Given the description of an element on the screen output the (x, y) to click on. 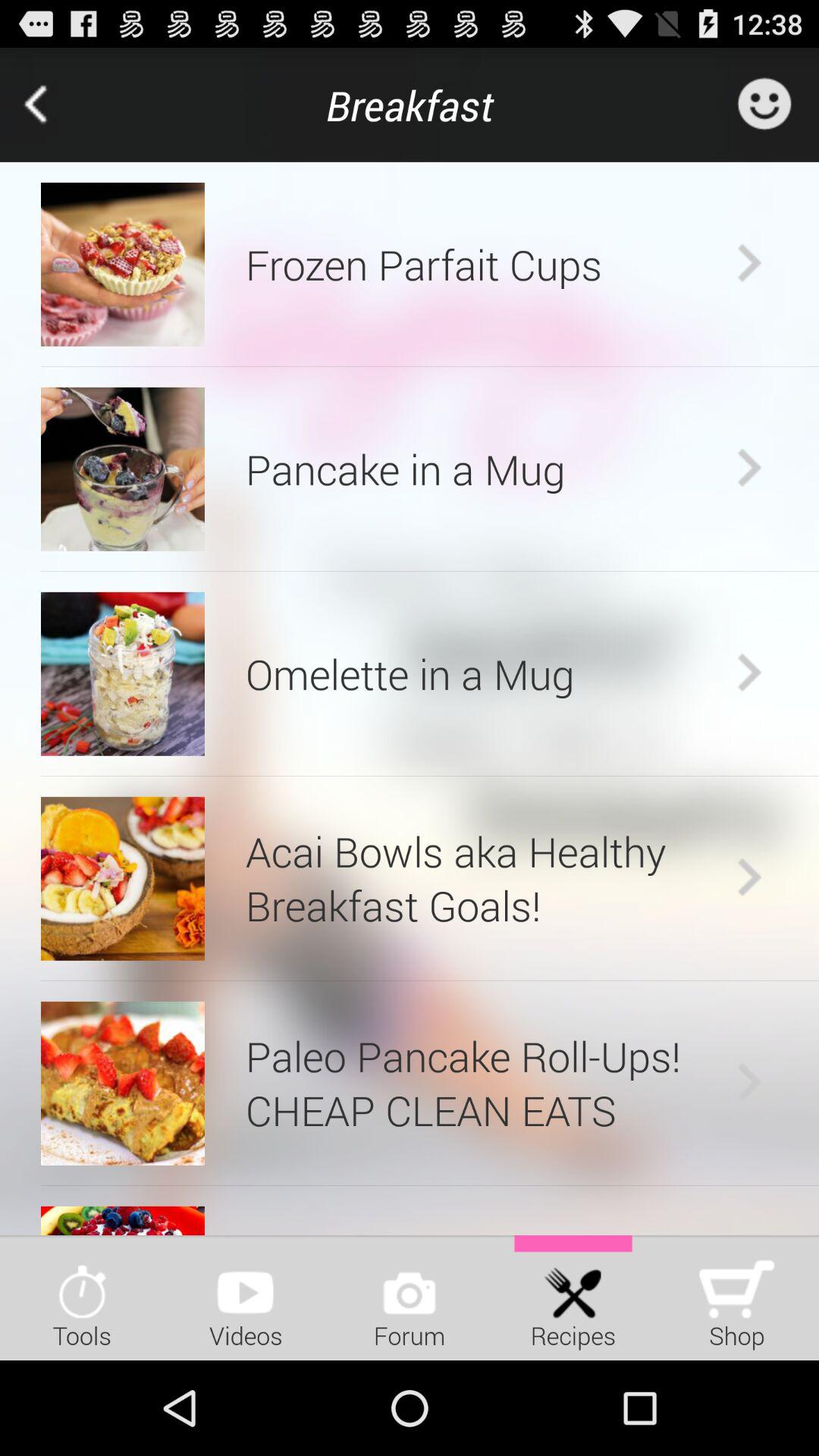
jump until the paleo pancake roll (486, 1083)
